Given the description of an element on the screen output the (x, y) to click on. 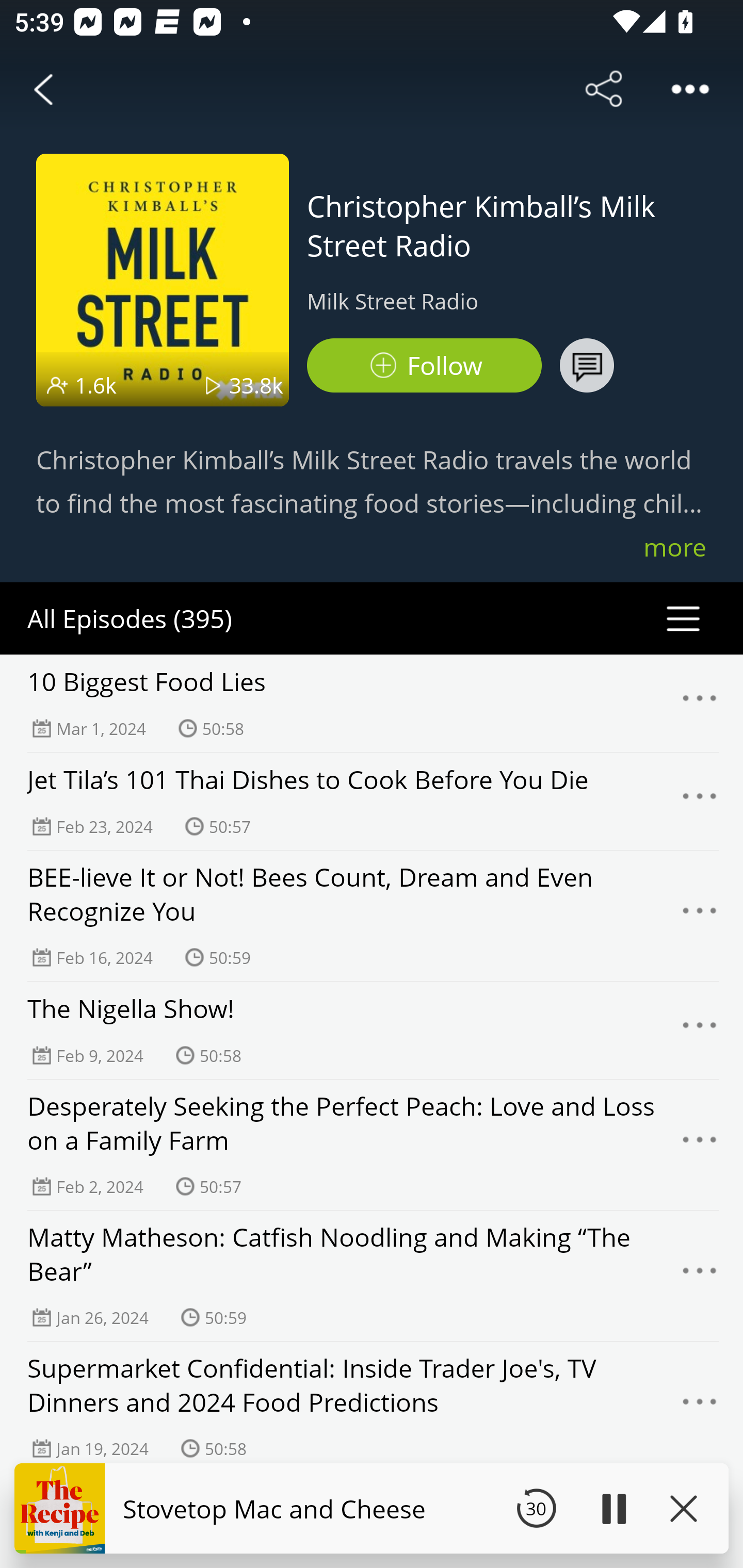
Back (43, 88)
Podbean Follow (423, 365)
1.6k (95, 384)
more (674, 546)
10 Biggest Food Lies Mar 1, 2024 50:58 Menu (371, 702)
Menu (699, 703)
Menu (699, 801)
Menu (699, 916)
The Nigella Show! Feb 9, 2024 50:58 Menu (371, 1029)
Menu (699, 1030)
Menu (699, 1145)
Menu (699, 1275)
Menu (699, 1407)
Play (613, 1507)
30 Seek Backward (536, 1508)
